Given the description of an element on the screen output the (x, y) to click on. 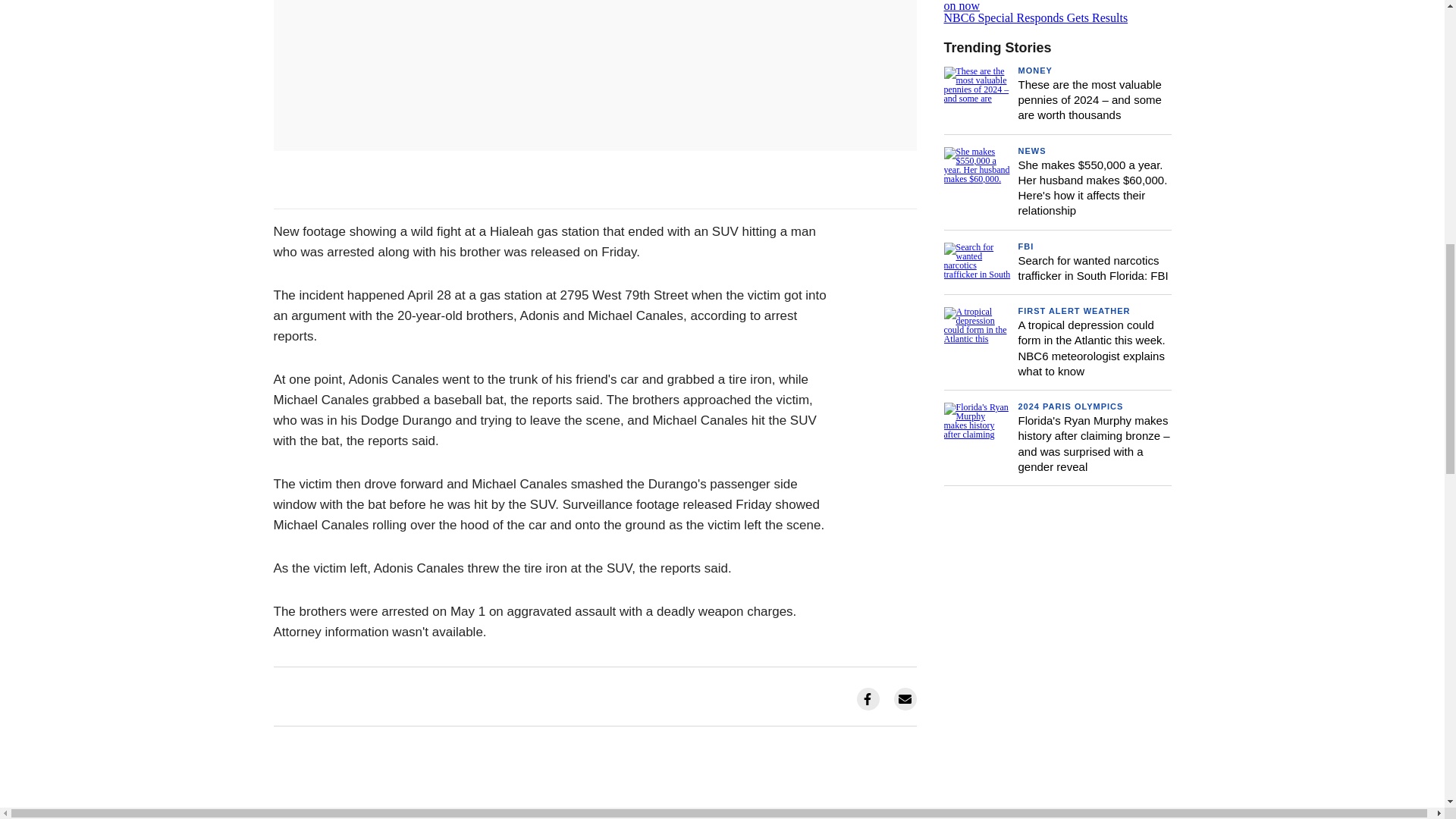
NEWS (1031, 150)
FBI (1056, 12)
MONEY (1025, 245)
